Given the description of an element on the screen output the (x, y) to click on. 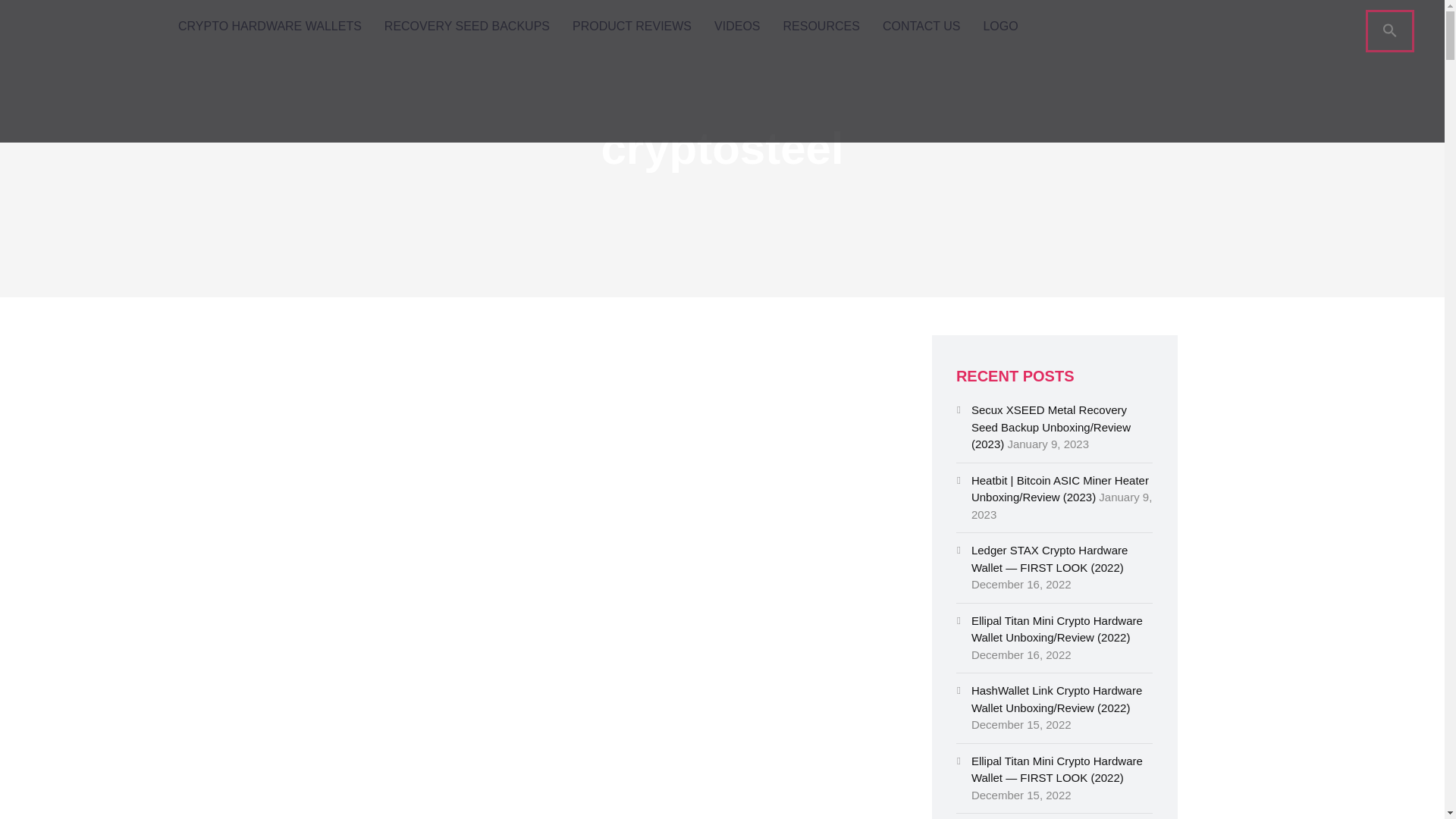
RESOURCES (820, 26)
CRYPTO HARDWARE WALLETS (269, 26)
